Given the description of an element on the screen output the (x, y) to click on. 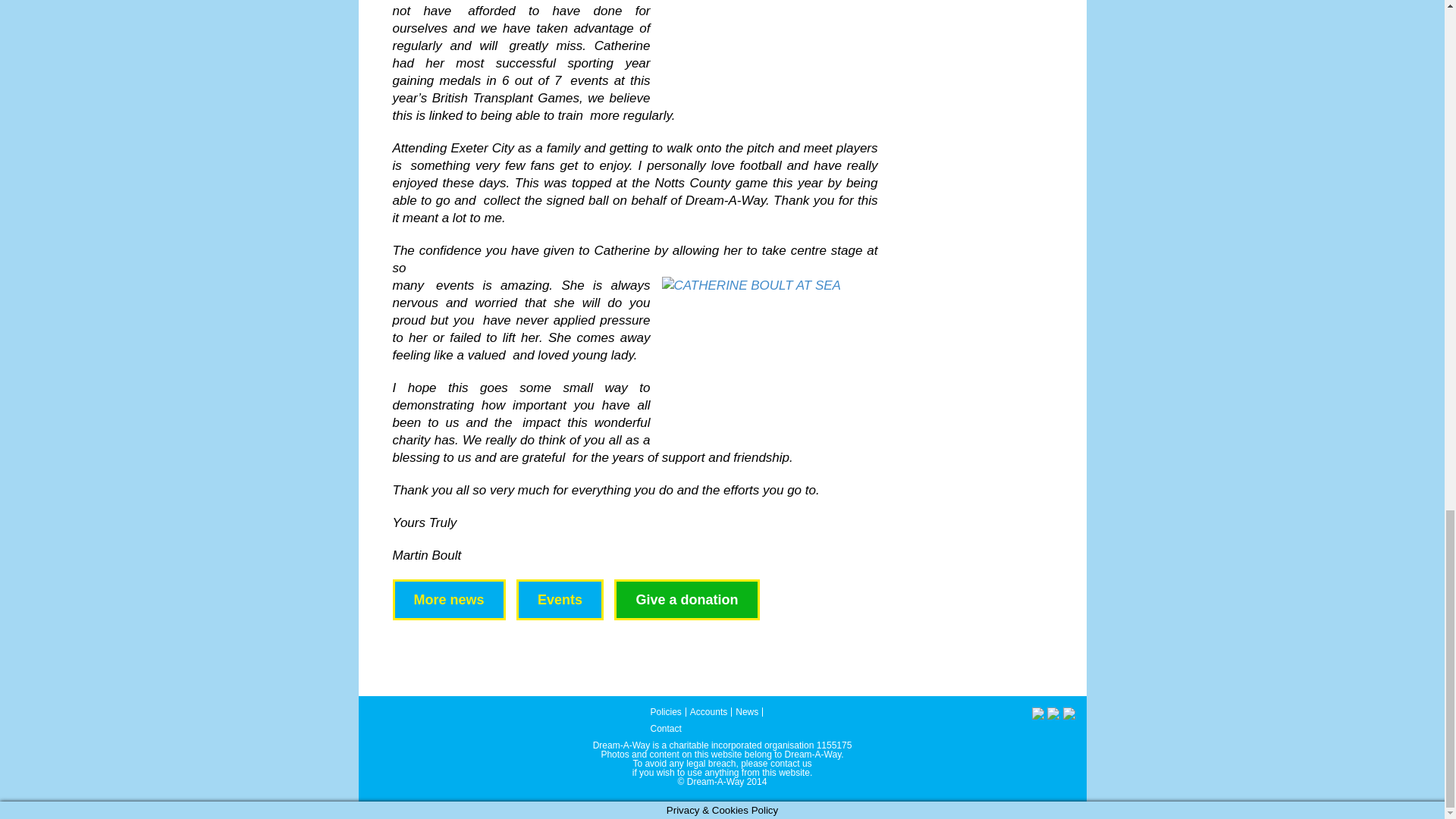
Give a donation (686, 599)
More news (449, 599)
Events (560, 599)
